Given the description of an element on the screen output the (x, y) to click on. 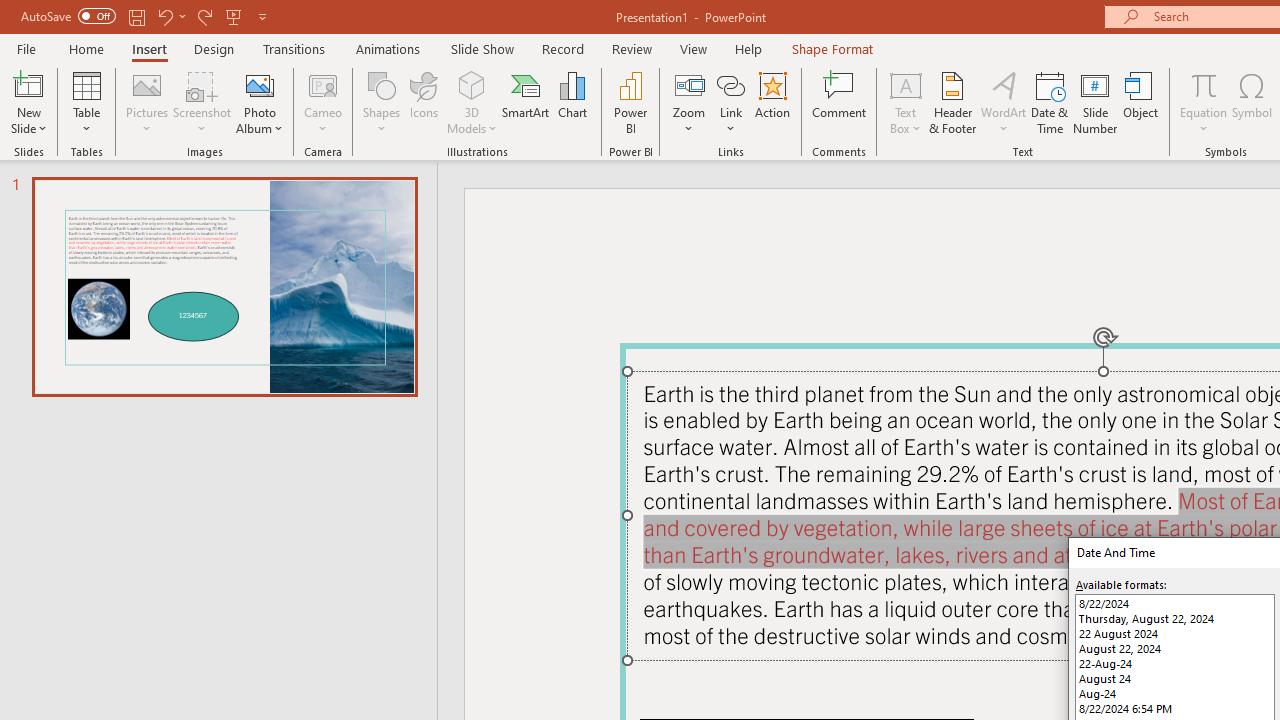
Action (772, 102)
Home (86, 48)
WordArt (1004, 102)
August 24 (1174, 678)
Quick Access Toolbar (145, 16)
Comment (839, 102)
Animations (388, 48)
Screenshot (202, 102)
Table (86, 102)
August 22, 2024 (1174, 647)
Review (631, 48)
Symbol... (1252, 102)
Shape Format (832, 48)
Icons (424, 102)
